Given the description of an element on the screen output the (x, y) to click on. 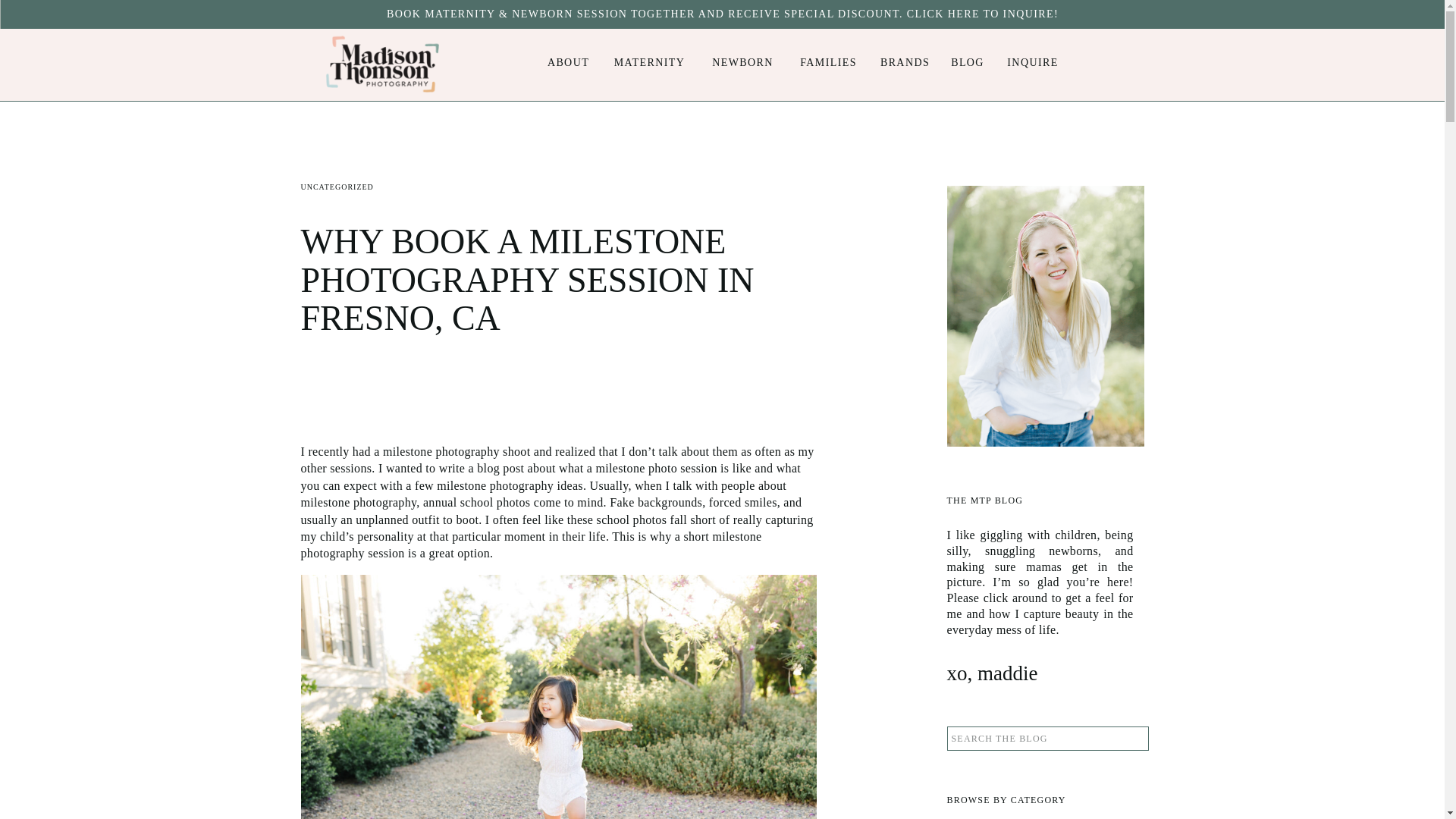
MATERNITY (649, 62)
NEWBORN (741, 62)
UNCATEGORIZED (335, 186)
ABOUT (567, 62)
INQUIRE (1032, 62)
FAMILIES (828, 62)
BRANDS (905, 62)
BLOG (968, 62)
